Given the description of an element on the screen output the (x, y) to click on. 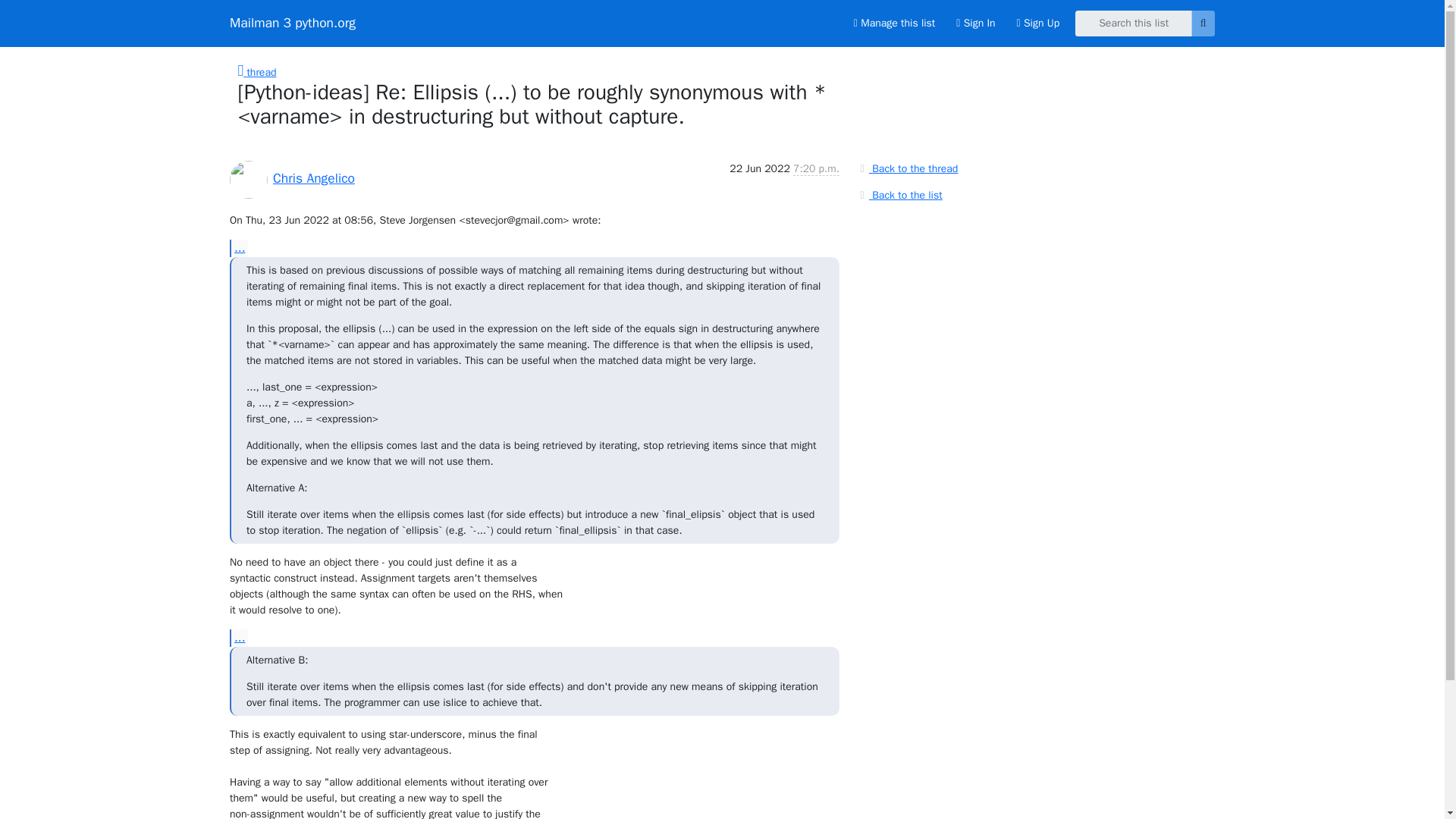
Sign Up (1038, 22)
Chris Angelico (314, 177)
Manage this list (893, 22)
Sign In (975, 22)
See the profile for Chris Angelico (314, 177)
Sender's time: June 23, 2022, 9:20 a.m. (816, 169)
... (238, 638)
thread (257, 72)
Back to the thread (907, 168)
Mailman 3 python.org (292, 23)
Back to the list (899, 194)
... (238, 248)
